Given the description of an element on the screen output the (x, y) to click on. 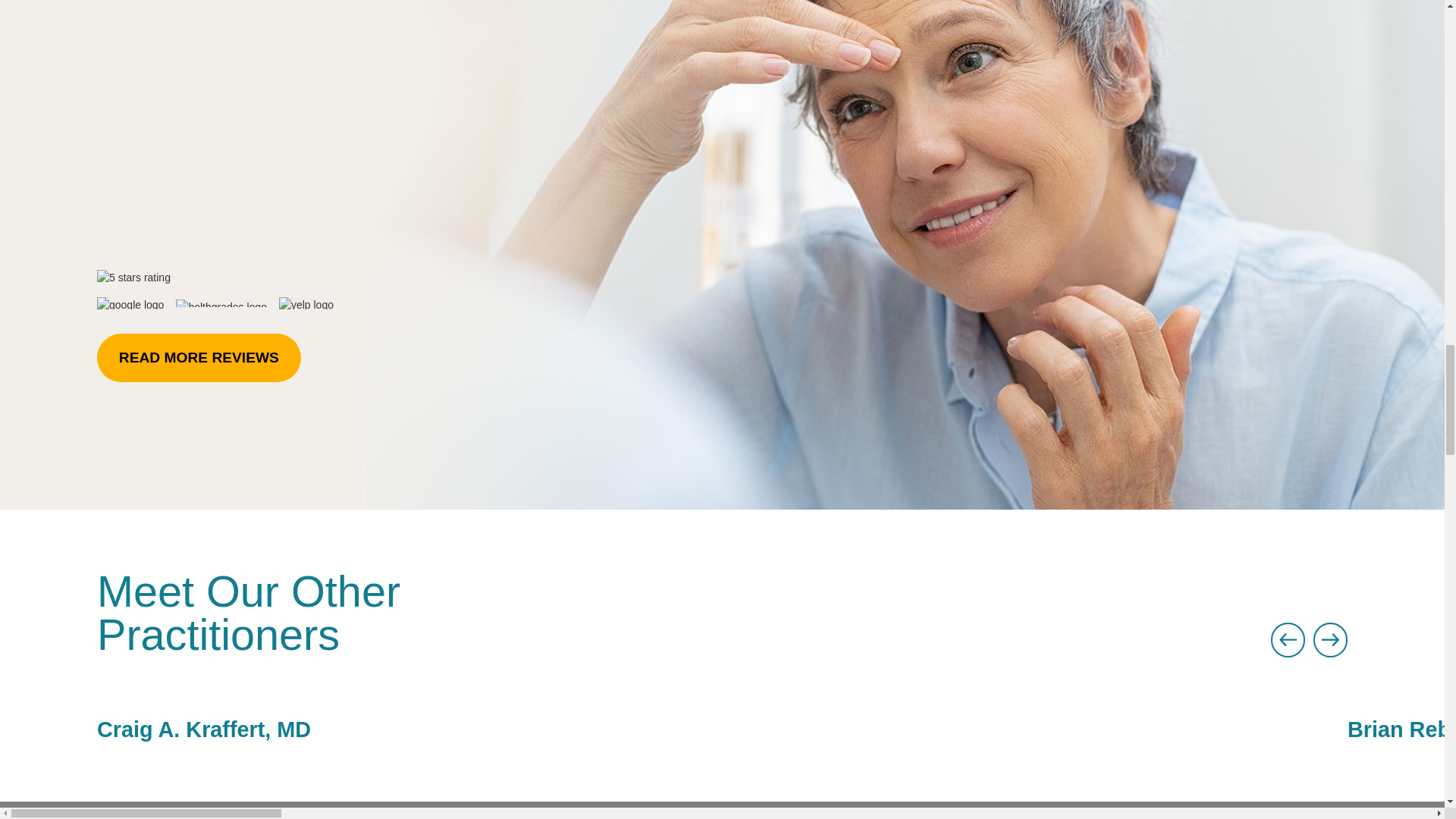
Brian Reber, PA-C (1402, 716)
Craig A. Kraffert, MD (722, 716)
READ MORE REVIEWS (199, 357)
